Given the description of an element on the screen output the (x, y) to click on. 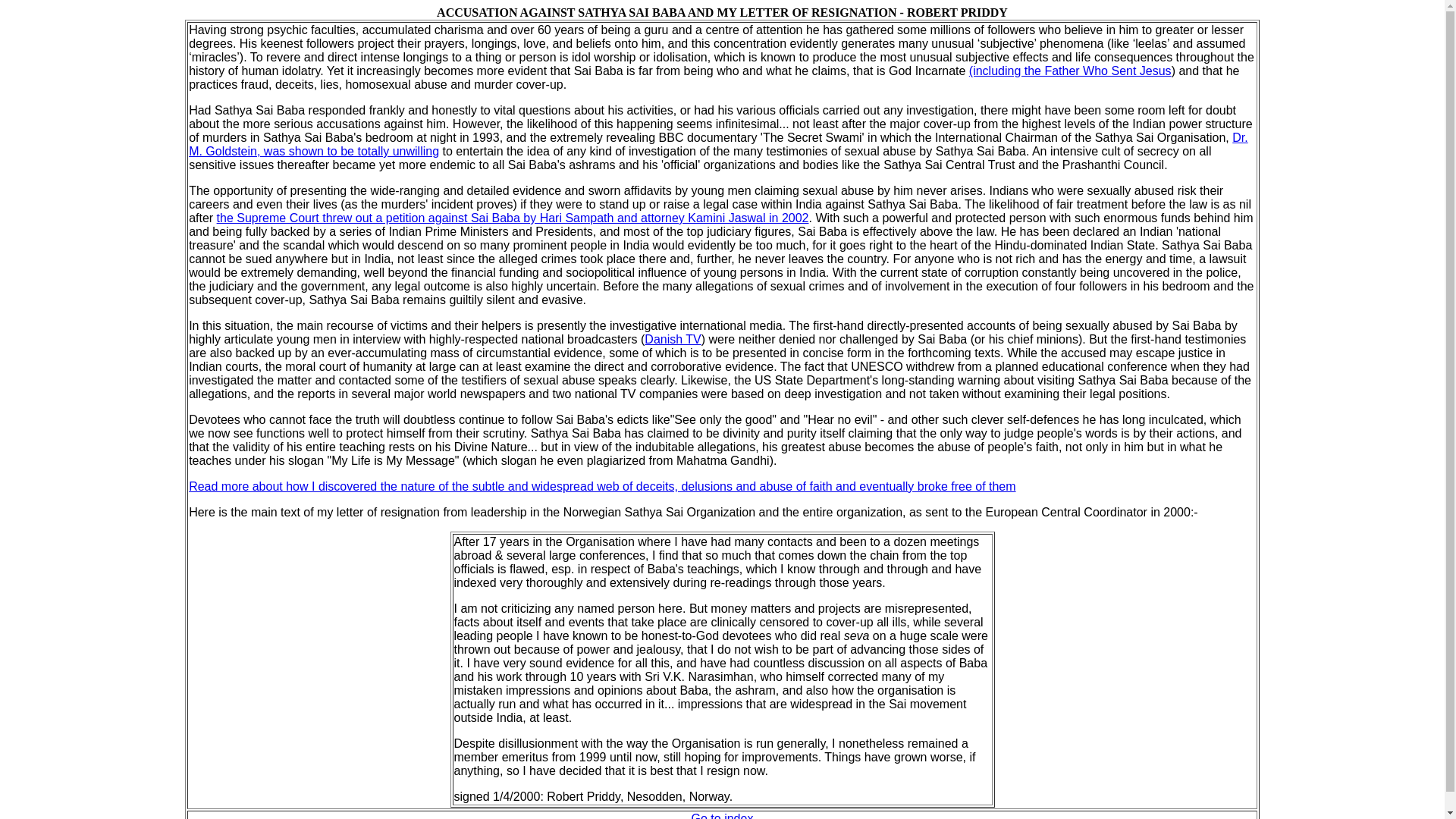
Go to index (722, 815)
Dr. M. Goldstein, was shown to be totally unwilling (718, 144)
Danish TV (672, 338)
